Given the description of an element on the screen output the (x, y) to click on. 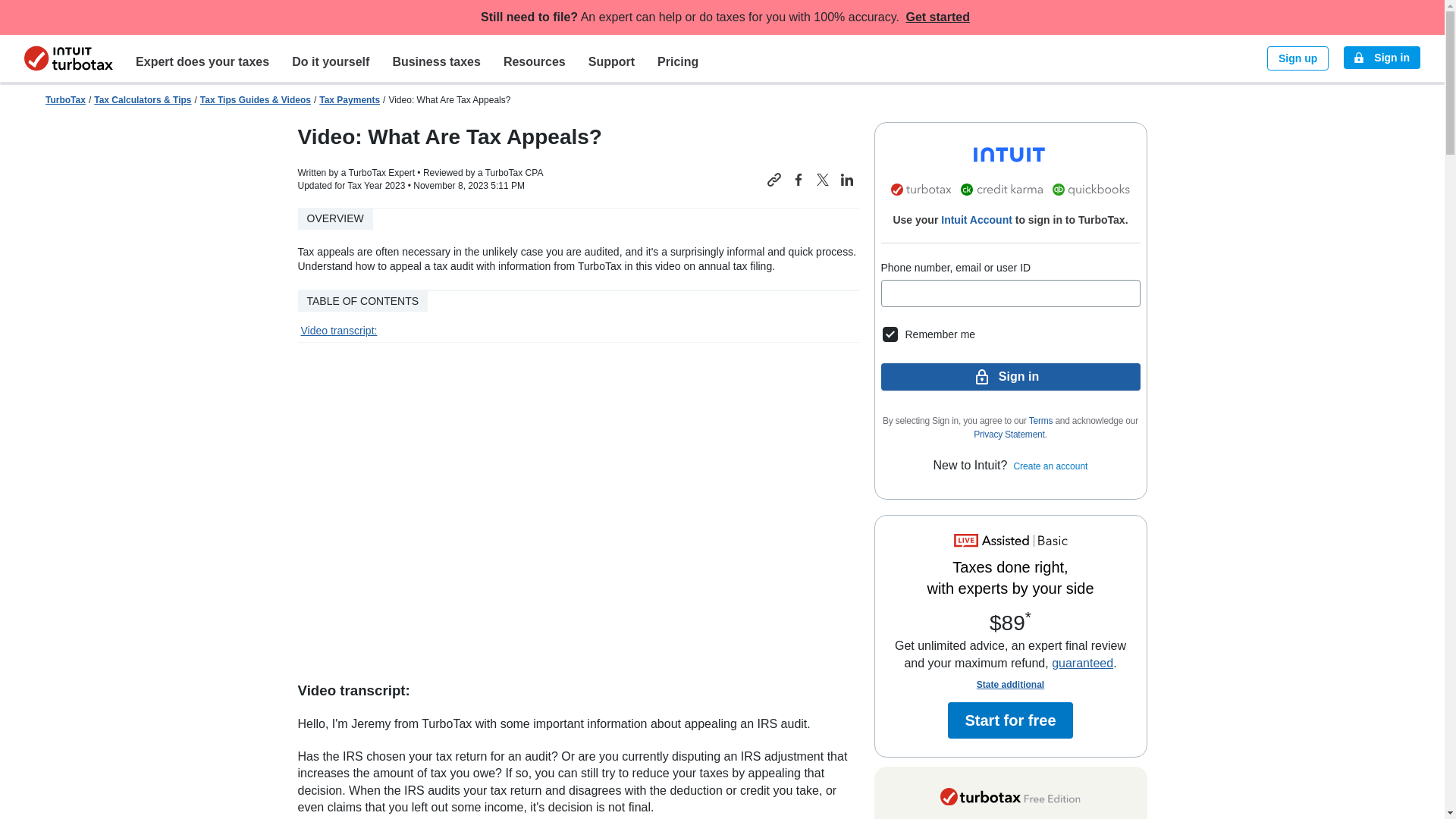
Share this article on LinkedIn (846, 179)
Expert does your taxes (202, 60)
Copy link to this article (773, 179)
Resources (534, 60)
Share this article on X (821, 179)
Do it yourself (330, 60)
Business taxes (436, 60)
Share this article on Facebook (797, 179)
